Given the description of an element on the screen output the (x, y) to click on. 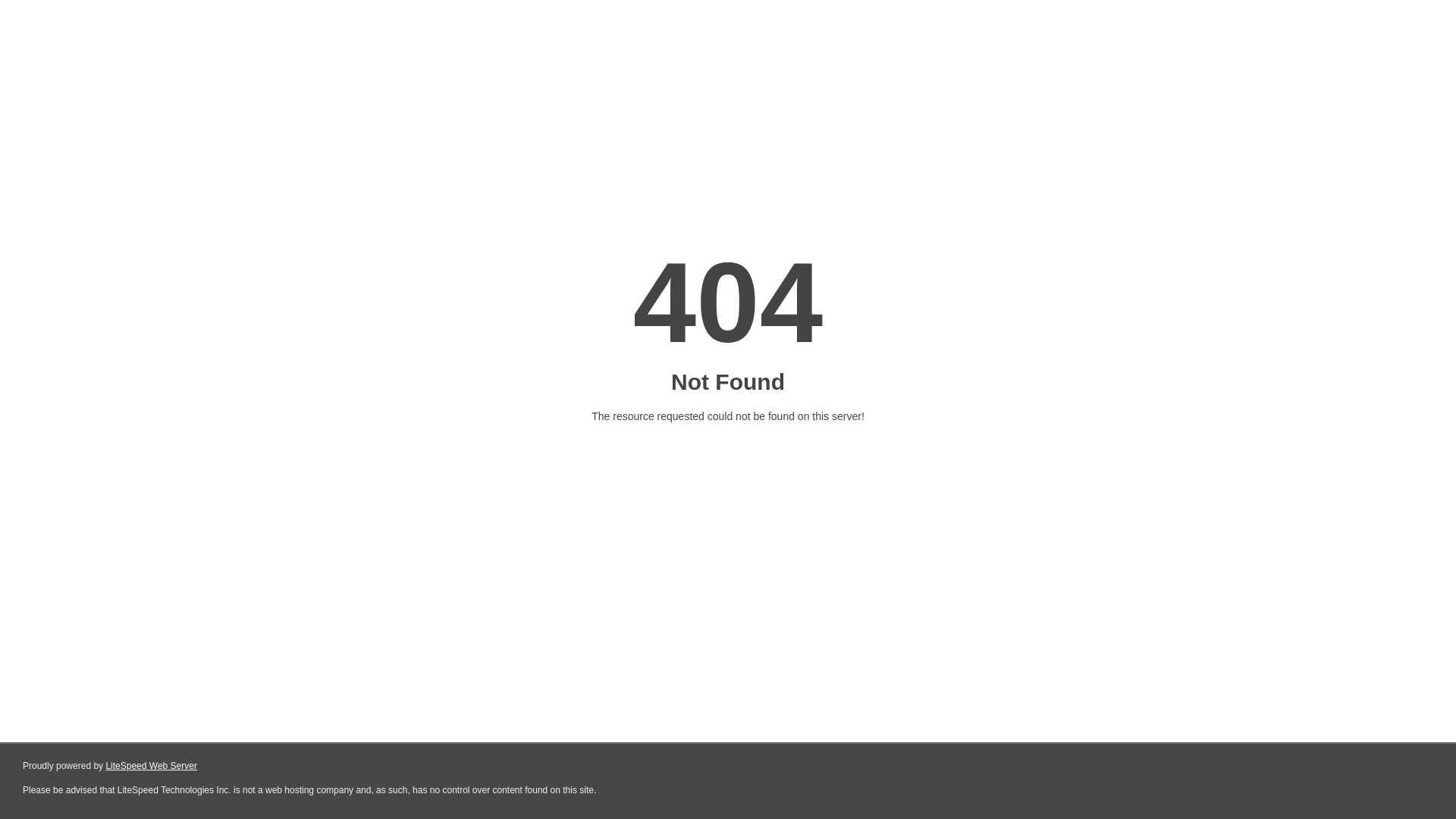
LiteSpeed Web Server Element type: text (151, 765)
